Given the description of an element on the screen output the (x, y) to click on. 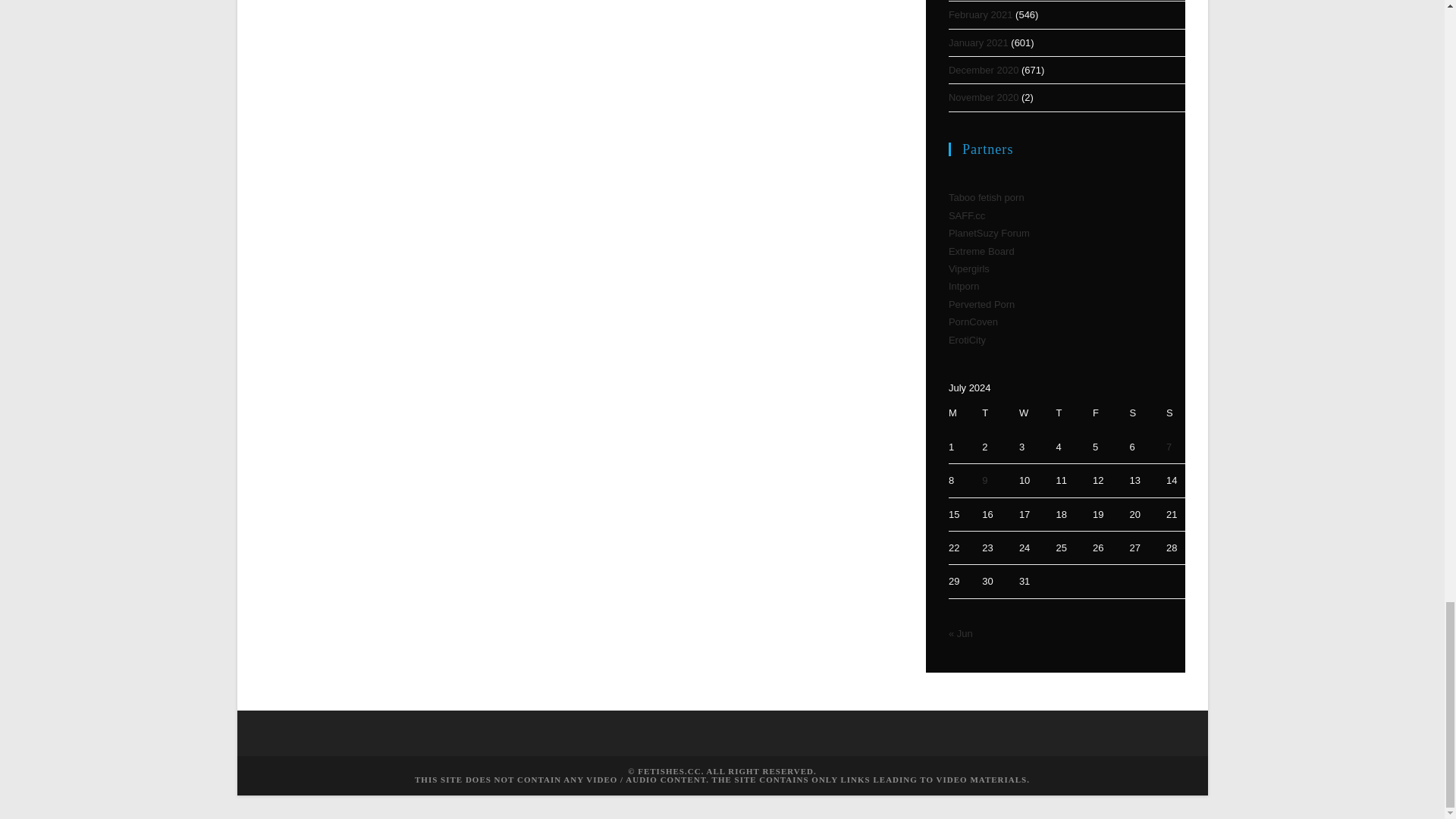
Friday (1103, 412)
Thursday (1066, 412)
Tuesday (992, 412)
Wednesday (1029, 412)
Saturday (1139, 412)
